Given the description of an element on the screen output the (x, y) to click on. 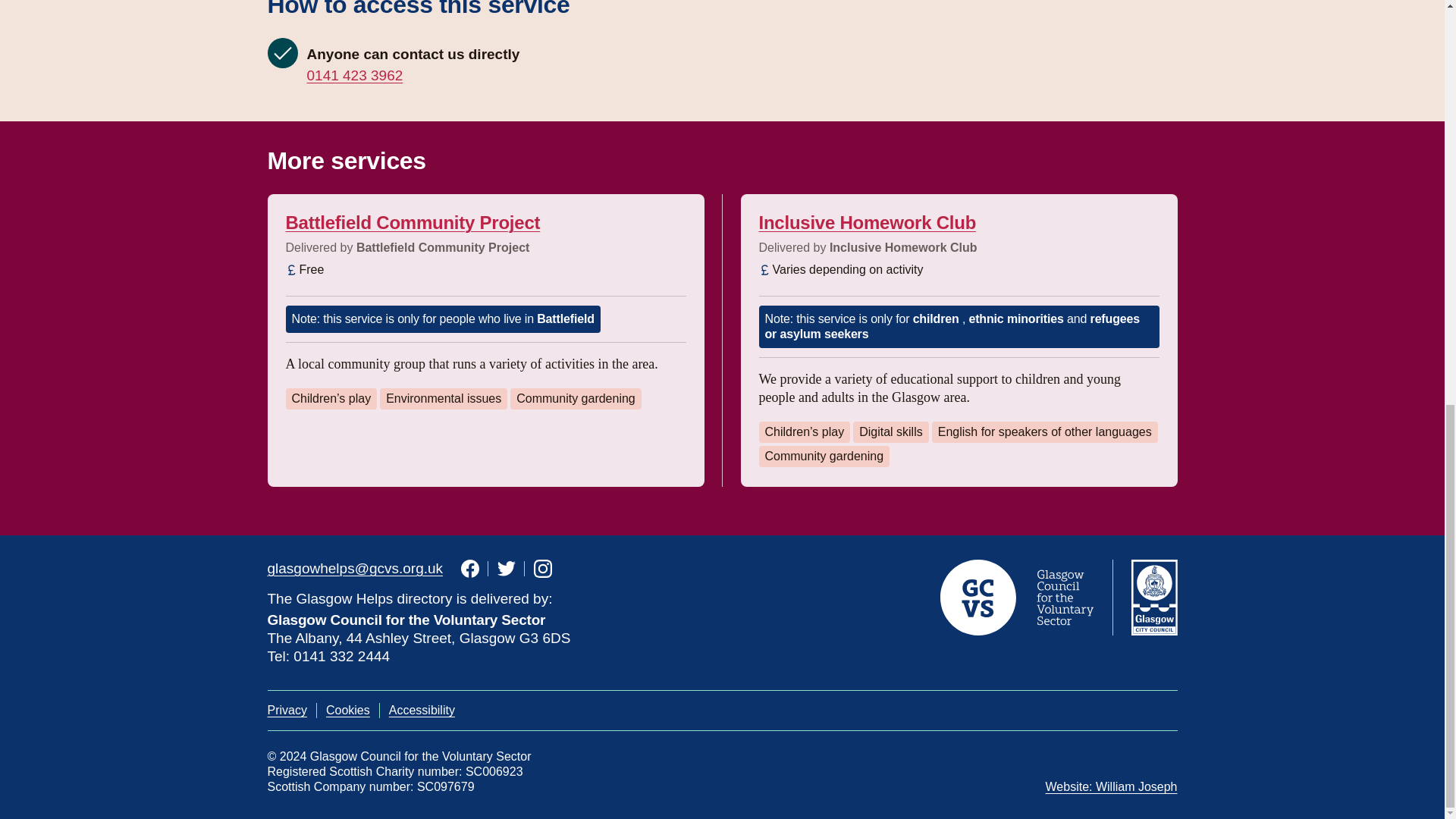
Website: William Joseph (1111, 786)
0141 423 3962 (354, 75)
Cookies (347, 709)
Accessibility (421, 709)
Privacy (285, 709)
Battlefield Community Project (412, 222)
Inclusive Homework Club (866, 222)
